Given the description of an element on the screen output the (x, y) to click on. 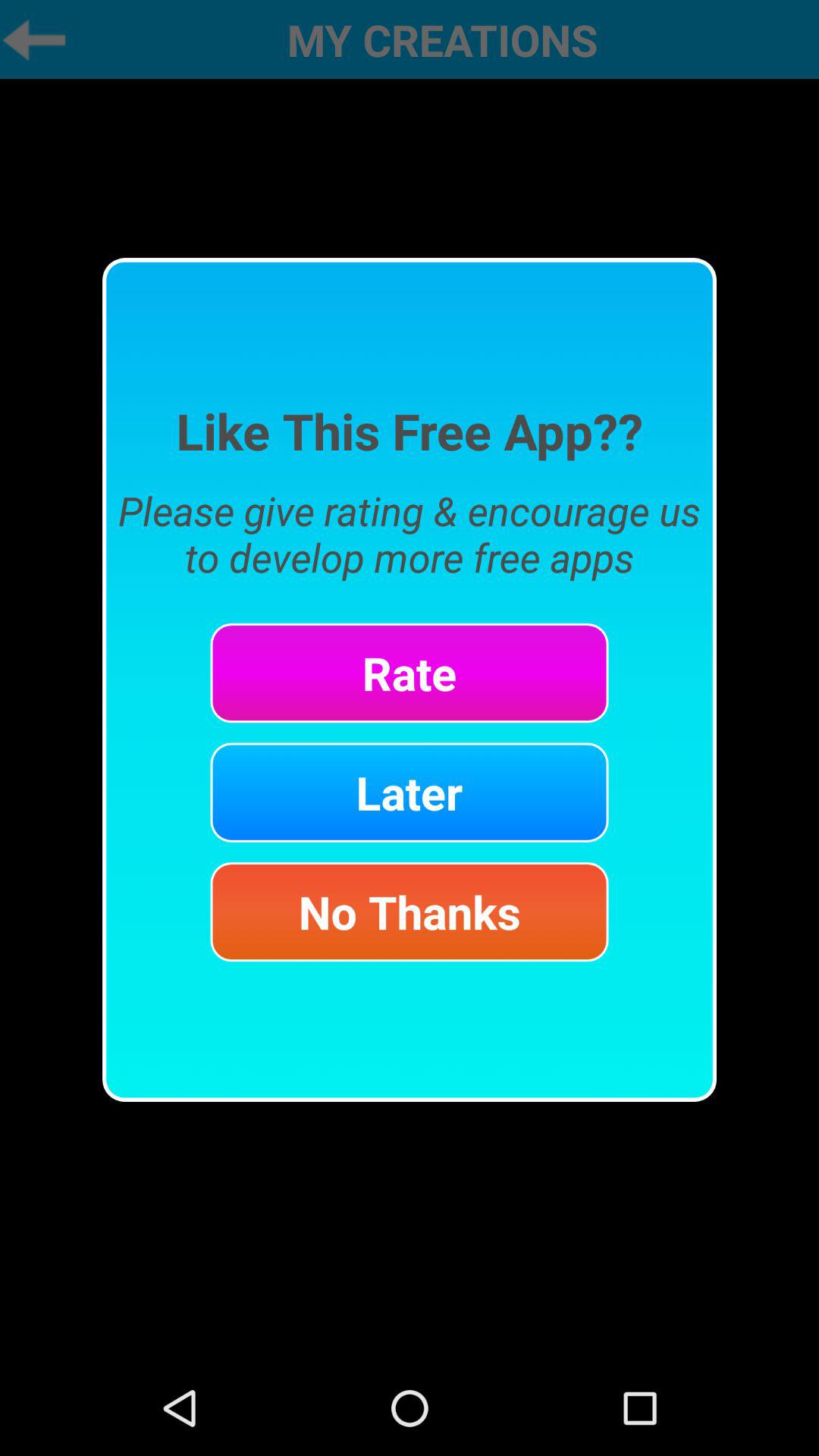
swipe until later button (409, 792)
